Given the description of an element on the screen output the (x, y) to click on. 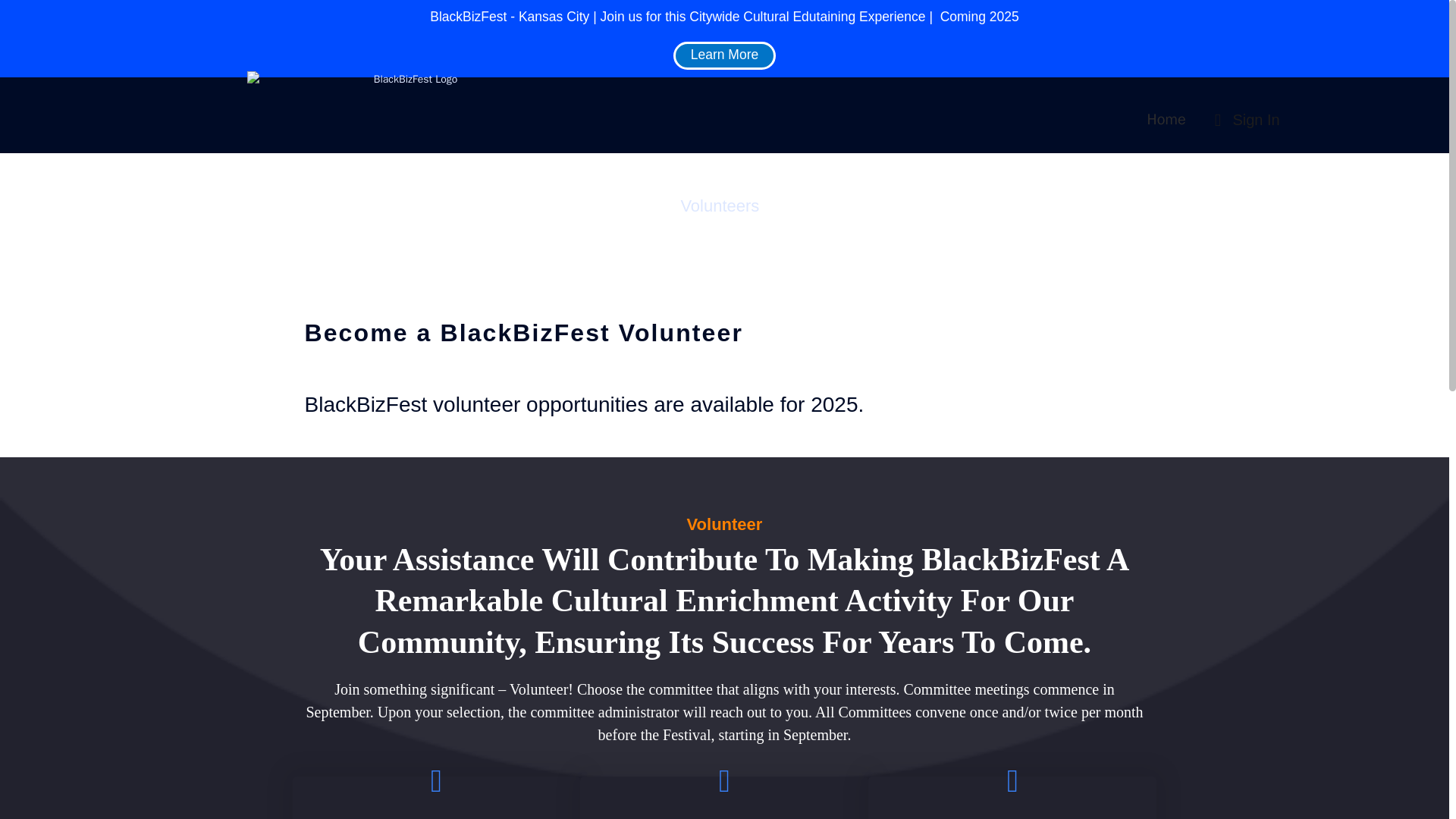
Learn More (724, 54)
Home (1166, 119)
Sign In (1243, 119)
